Given the description of an element on the screen output the (x, y) to click on. 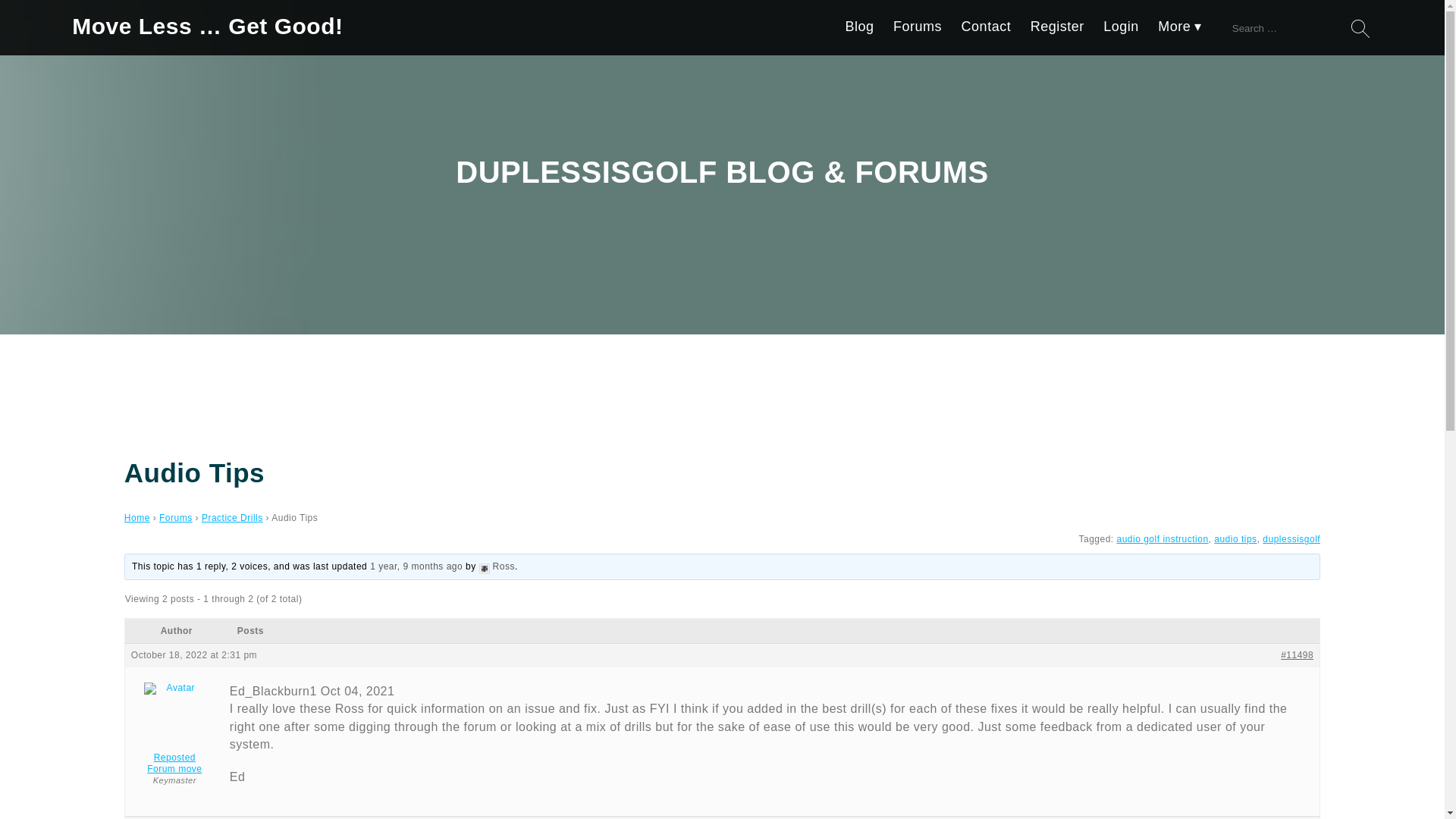
Reposted Forum move (174, 728)
View Reposted Forum move's profile (174, 728)
audio golf instruction (1162, 538)
Forums (917, 30)
More (1179, 30)
1 year, 9 months ago (416, 566)
Practice Drills (232, 517)
Forums (175, 517)
Login (1120, 30)
Home (136, 517)
Reply To: Audio Tips (416, 566)
View Ross's profile (497, 566)
Register (1057, 30)
Move Less ... Get Good! (206, 26)
Ross (497, 566)
